Given the description of an element on the screen output the (x, y) to click on. 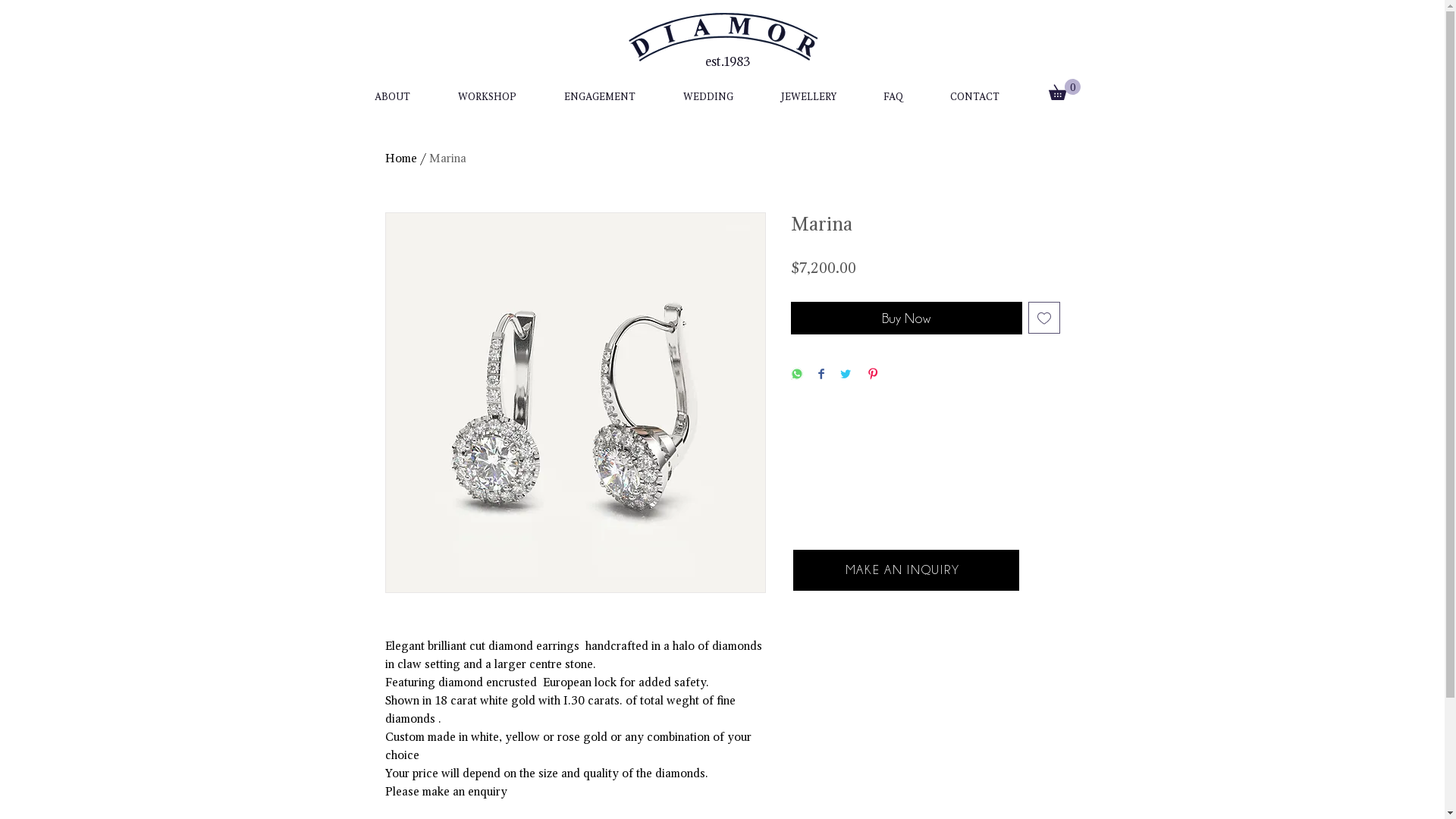
MAKE AN INQUIRY Element type: text (906, 569)
CONTACT Element type: text (974, 89)
JEWELLERY Element type: text (807, 89)
ENGAGEMENT Element type: text (598, 89)
Home Element type: text (401, 157)
Buy Now Element type: text (905, 317)
Marina Element type: text (447, 157)
0 Element type: text (1063, 89)
FAQ Element type: text (892, 89)
WORKSHOP Element type: text (486, 89)
WEDDING Element type: text (708, 89)
ABOUT Element type: text (391, 89)
